Given the description of an element on the screen output the (x, y) to click on. 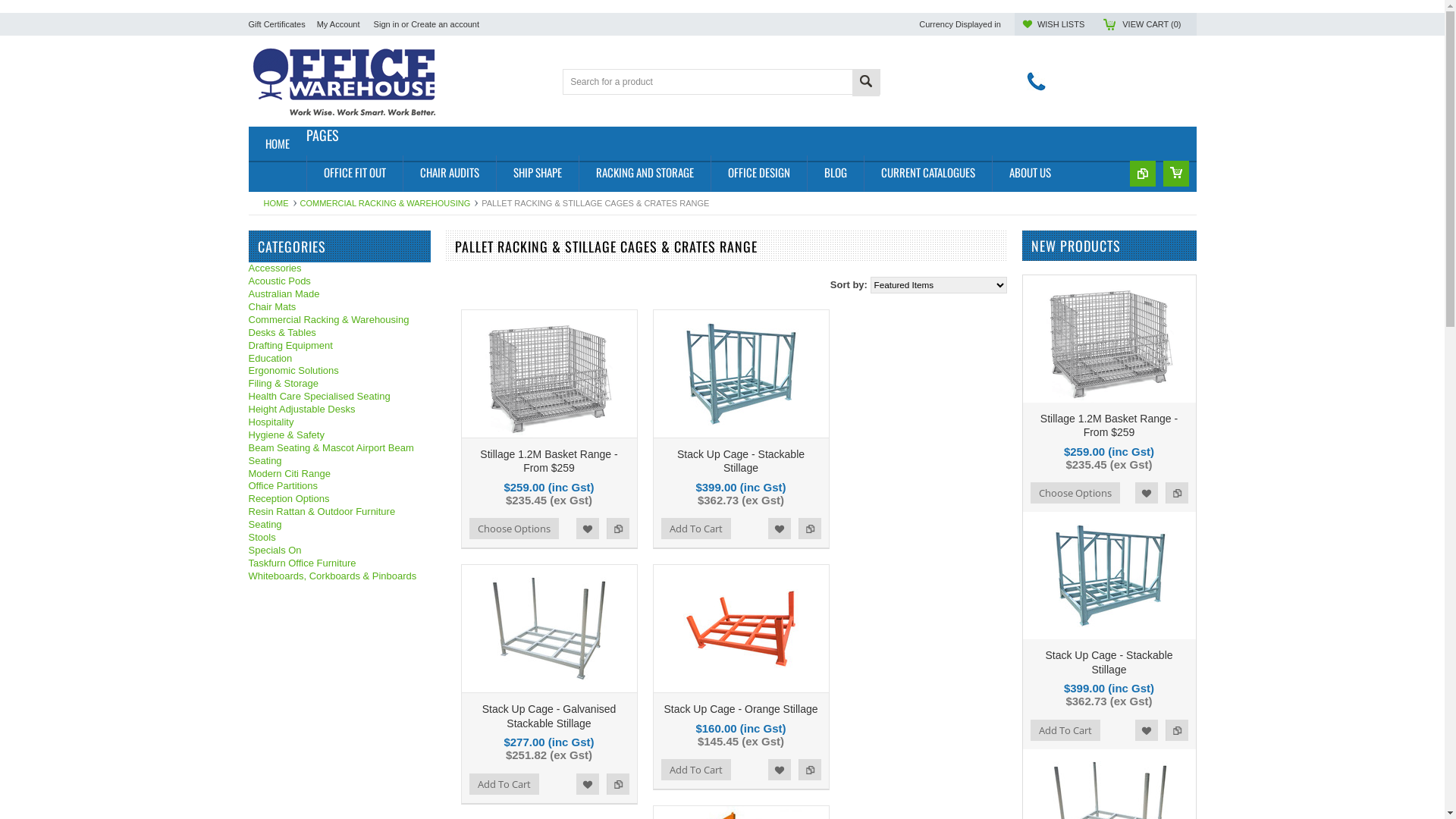
Add to Compare Element type: text (1175, 729)
View Cart Element type: hover (1176, 173)
Acoustic Pods Element type: text (339, 281)
CURRENT CATALOGUES Element type: text (926, 173)
HOME Element type: text (279, 202)
Stack Up Cage - Orange Stillage Element type: text (740, 708)
Specials On Element type: text (339, 550)
Create an account Element type: text (445, 23)
Desks & Tables Element type: text (339, 332)
Stillage 1.2M Basket Range - From $259 Element type: text (1108, 425)
Add To Cart Element type: text (696, 769)
Commercial Racking & Warehousing Element type: text (339, 319)
OFFICE DESIGN Element type: text (757, 173)
Chair Mats Element type: text (339, 307)
Add To Cart Element type: text (1064, 729)
Add to Wishlist Element type: text (587, 528)
Height Adjustable Desks Element type: text (339, 409)
Sign in Element type: text (386, 23)
Taskfurn Office Furniture Element type: text (339, 563)
Stack Up Cage - Stackable Stillage Element type: text (740, 460)
Stack Up Cage - Stackable Stillage Element type: text (1108, 661)
Ergonomic Solutions Element type: text (339, 370)
VIEW CART (0) Element type: text (1151, 23)
Stack Up Cage - Galvanised Stackable Stillage Element type: text (549, 715)
Compare Product Element type: hover (1142, 173)
Add to Compare Element type: text (617, 528)
Add to Wishlist Element type: text (1145, 492)
Australian Made Element type: text (339, 294)
Add To Cart Element type: text (503, 783)
ABOUT US Element type: text (1029, 173)
Stillage 1.2M Basket Range - From $259 Element type: text (548, 460)
Health Care Specialised Seating Element type: text (339, 396)
BLOG Element type: text (834, 173)
HOME Element type: text (277, 144)
Add to Wishlist Element type: text (587, 783)
Accessories Element type: text (339, 268)
Resin Rattan & Outdoor Furniture Element type: text (339, 511)
Education Element type: text (339, 358)
OFFICE FIT OUT Element type: text (354, 173)
Reception Options Element type: text (339, 498)
Hospitality Element type: text (339, 422)
RACKING AND STORAGE Element type: text (643, 173)
Choose Options Element type: text (1074, 492)
Modern Citi Range Element type: text (339, 473)
Filing & Storage Element type: text (339, 383)
Beam Seating & Mascot Airport Beam Seating Element type: text (339, 454)
SHIP SHAPE Element type: text (536, 173)
Drafting Equipment Element type: text (339, 345)
Add To Cart Element type: text (696, 528)
Hygiene & Safety Element type: text (339, 435)
Add to Compare Element type: text (617, 783)
Add to Wishlist Element type: text (778, 528)
Seating Element type: text (339, 524)
Add to Compare Element type: text (808, 528)
Add to Compare Element type: text (808, 769)
Whiteboards, Corkboards & Pinboards Element type: text (339, 576)
CHAIR AUDITS Element type: text (448, 173)
My Account Element type: text (338, 23)
Gift Certificates Element type: text (276, 23)
Stools Element type: text (339, 537)
Choose Options Element type: text (513, 528)
WISH LISTS Element type: text (1060, 23)
Add to Compare Element type: text (1175, 492)
Office Partitions Element type: text (339, 486)
Add to Wishlist Element type: text (1145, 729)
SEARCH Element type: text (865, 82)
Add to Wishlist Element type: text (778, 769)
COMMERCIAL RACKING & WAREHOUSING Element type: text (389, 202)
